Given the description of an element on the screen output the (x, y) to click on. 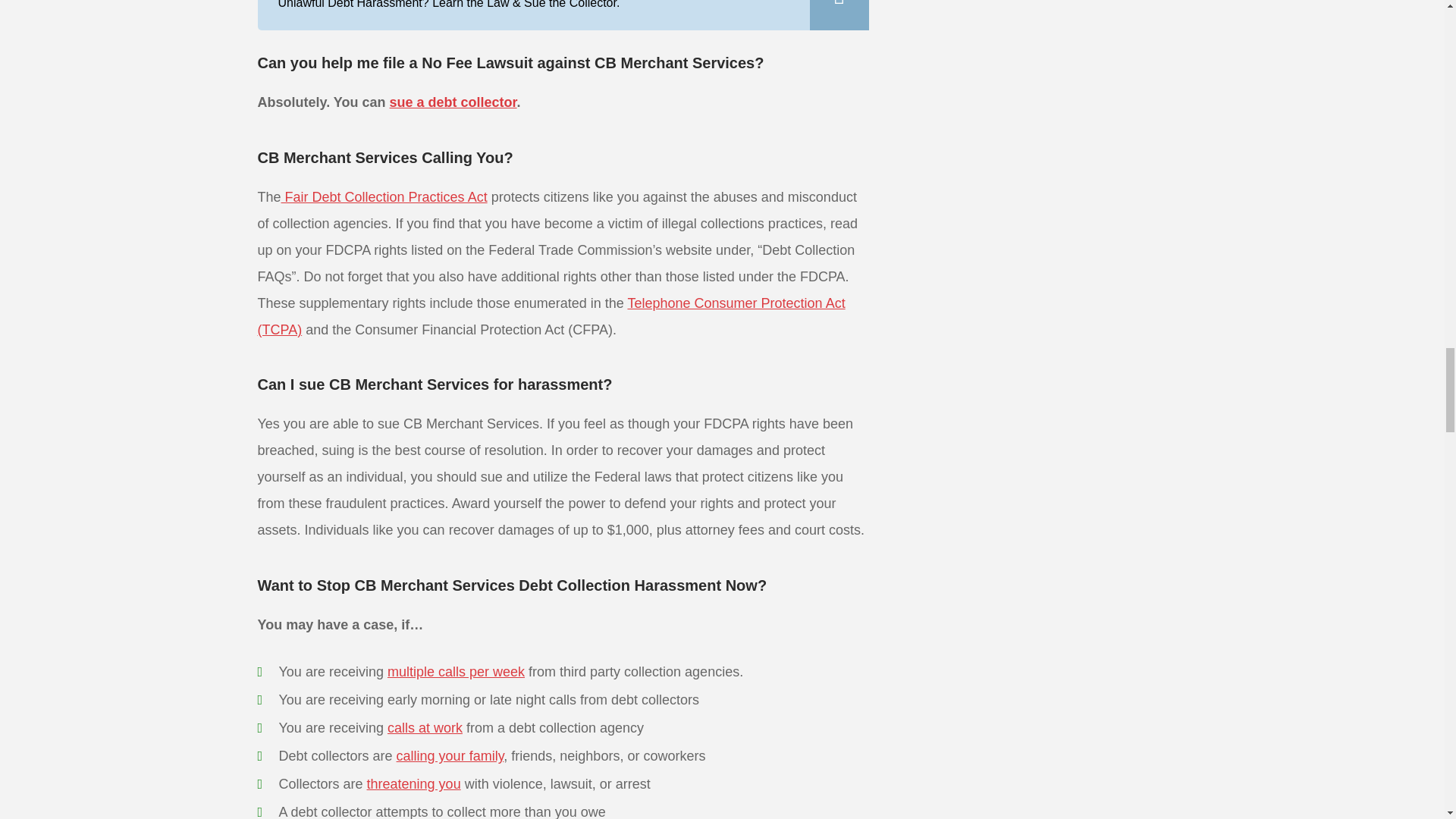
calling your family (449, 755)
multiple calls per week (455, 671)
calls at work (425, 727)
 Fair Debt Collection Practices Act (384, 196)
sue a debt collector (453, 102)
